Given the description of an element on the screen output the (x, y) to click on. 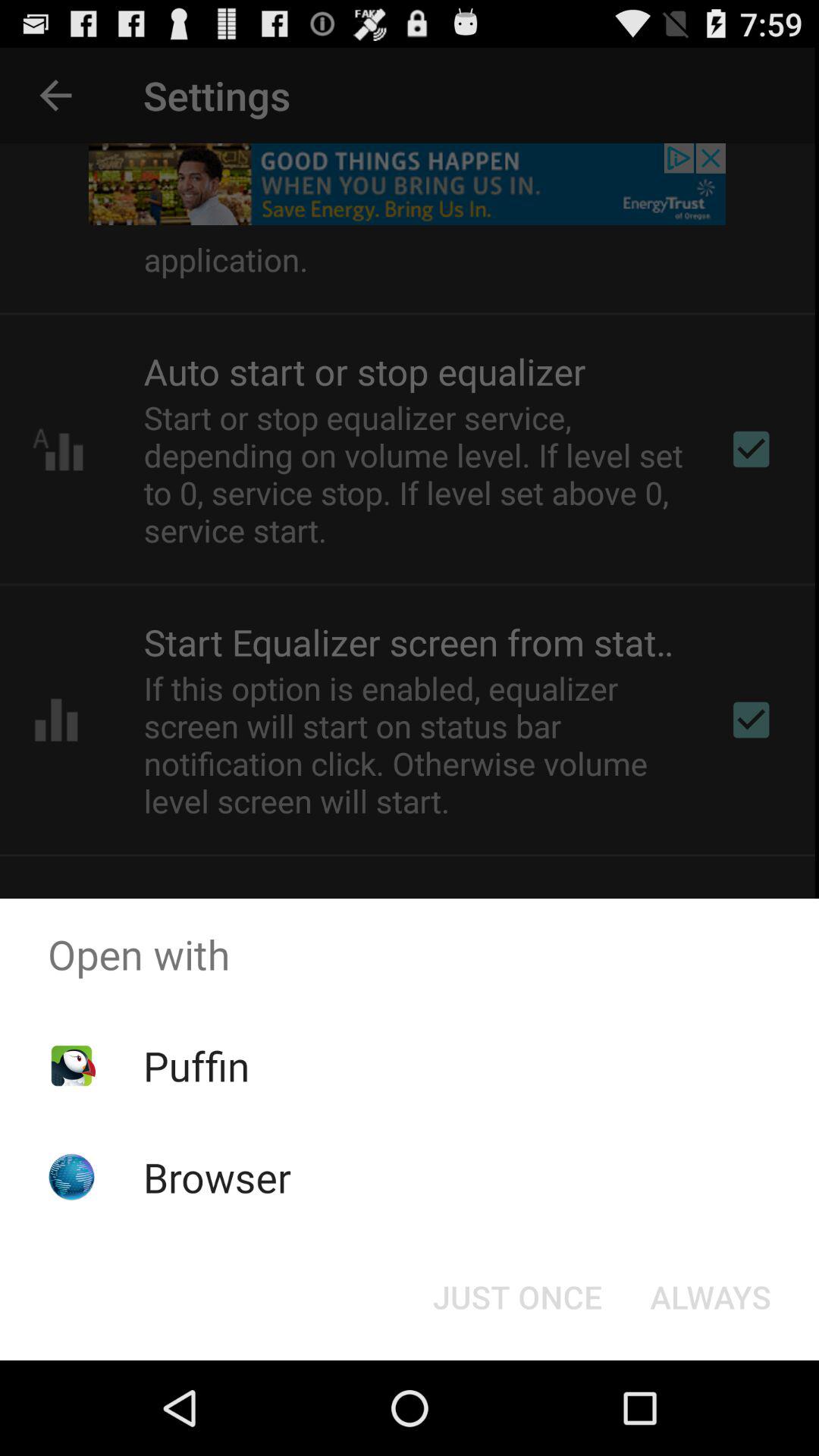
turn on the icon next to the always button (517, 1296)
